Given the description of an element on the screen output the (x, y) to click on. 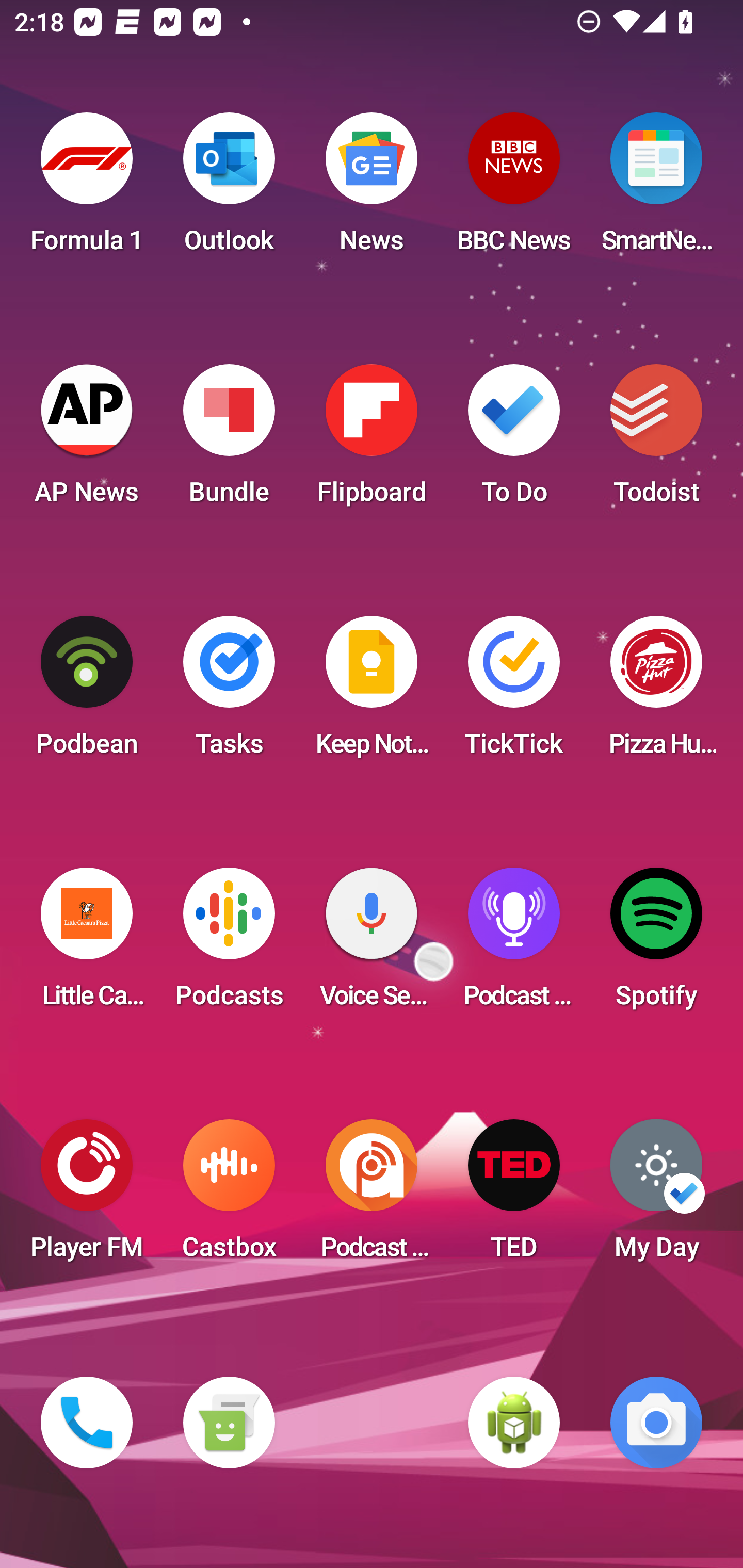
Formula 1 (86, 188)
Outlook (228, 188)
News (371, 188)
BBC News (513, 188)
SmartNews (656, 188)
AP News (86, 440)
Bundle (228, 440)
Flipboard (371, 440)
To Do (513, 440)
Todoist (656, 440)
Podbean (86, 692)
Tasks (228, 692)
Keep Notes (371, 692)
TickTick (513, 692)
Pizza Hut HK & Macau (656, 692)
Little Caesars Pizza (86, 943)
Podcasts (228, 943)
Voice Search (371, 943)
Podcast Player (513, 943)
Spotify (656, 943)
Player FM (86, 1195)
Castbox (228, 1195)
Podcast Addict (371, 1195)
TED (513, 1195)
My Day (656, 1195)
Phone (86, 1422)
Messaging (228, 1422)
WebView Browser Tester (513, 1422)
Camera (656, 1422)
